Given the description of an element on the screen output the (x, y) to click on. 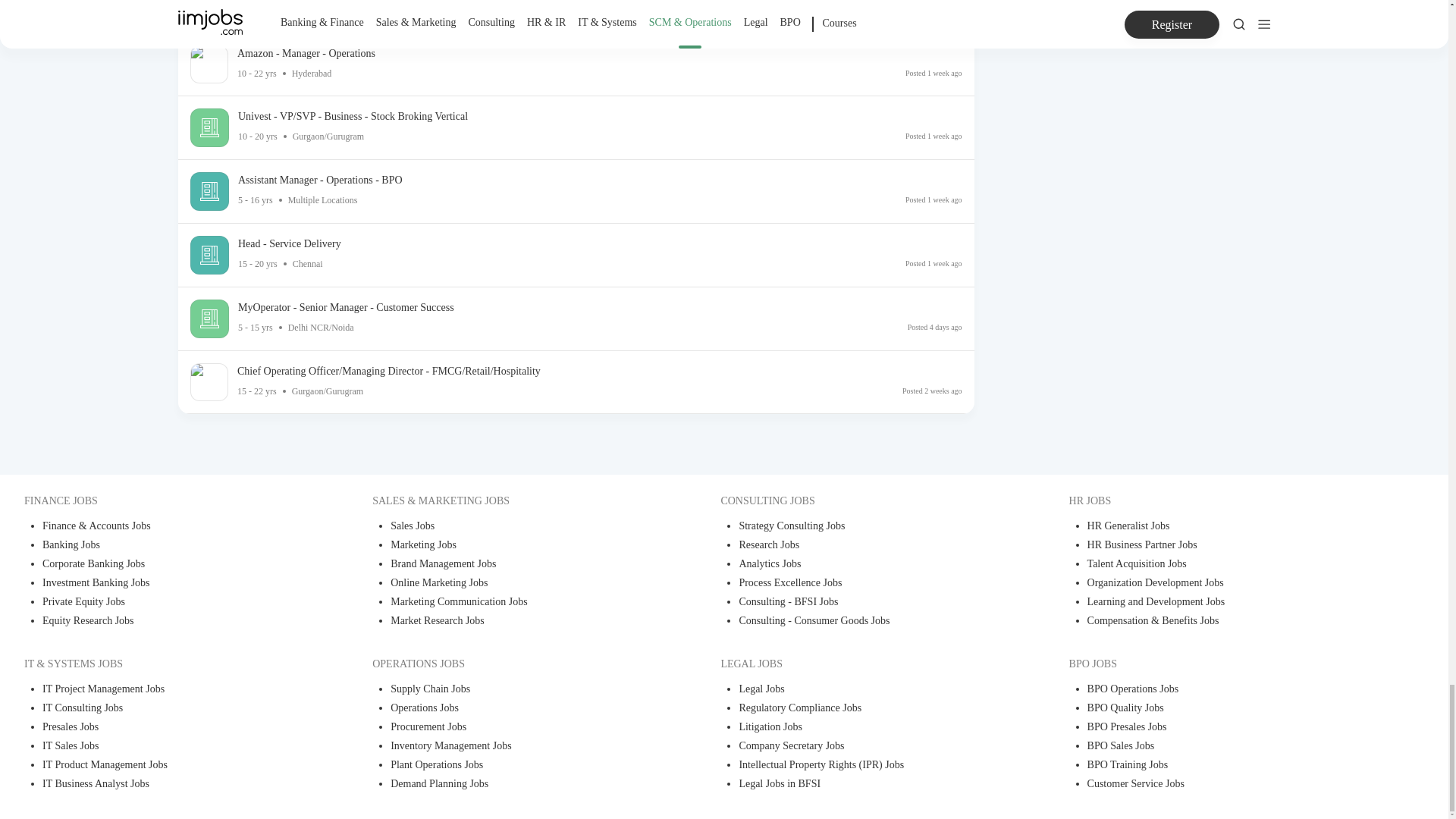
Marketing Jobs (521, 546)
Banking Jobs (173, 546)
Investment Banking Jobs (173, 583)
Sales Jobs (521, 527)
Private Equity Jobs (173, 602)
Equity Research Jobs (173, 621)
Brand Management Jobs (521, 565)
Online Marketing Jobs (521, 583)
Marketing Communication Jobs (521, 602)
Corporate Banking Jobs (173, 565)
